Given the description of an element on the screen output the (x, y) to click on. 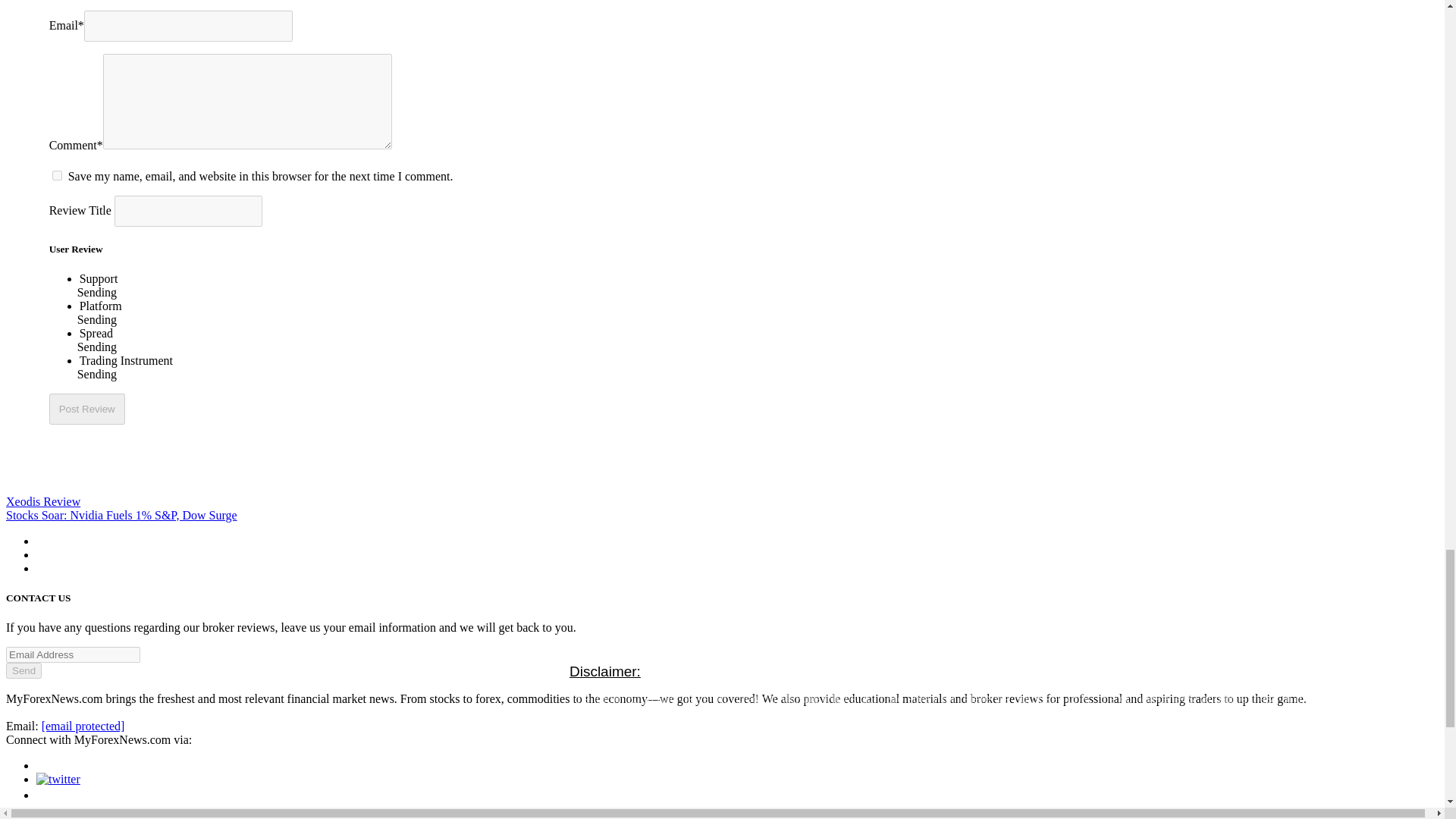
Post Review (87, 409)
Send (23, 670)
yes (57, 175)
